Given the description of an element on the screen output the (x, y) to click on. 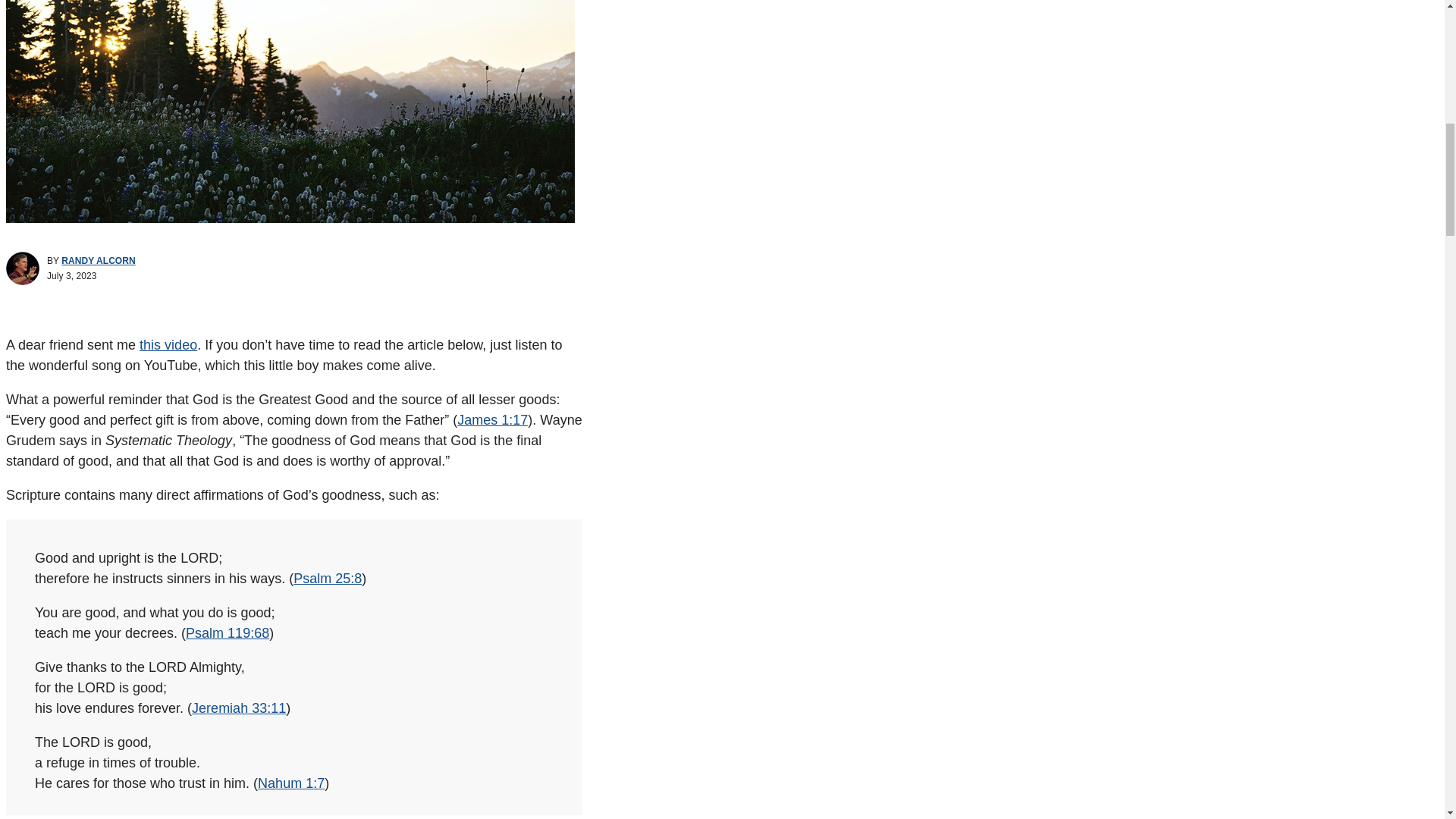
Psalm 119:68 (227, 632)
Nahum 1:7 (290, 783)
James 1:17 (492, 419)
Psalm 25:8 (327, 578)
Jeremiah 33:11 (238, 708)
this video (167, 344)
RANDY ALCORN (98, 260)
